Given the description of an element on the screen output the (x, y) to click on. 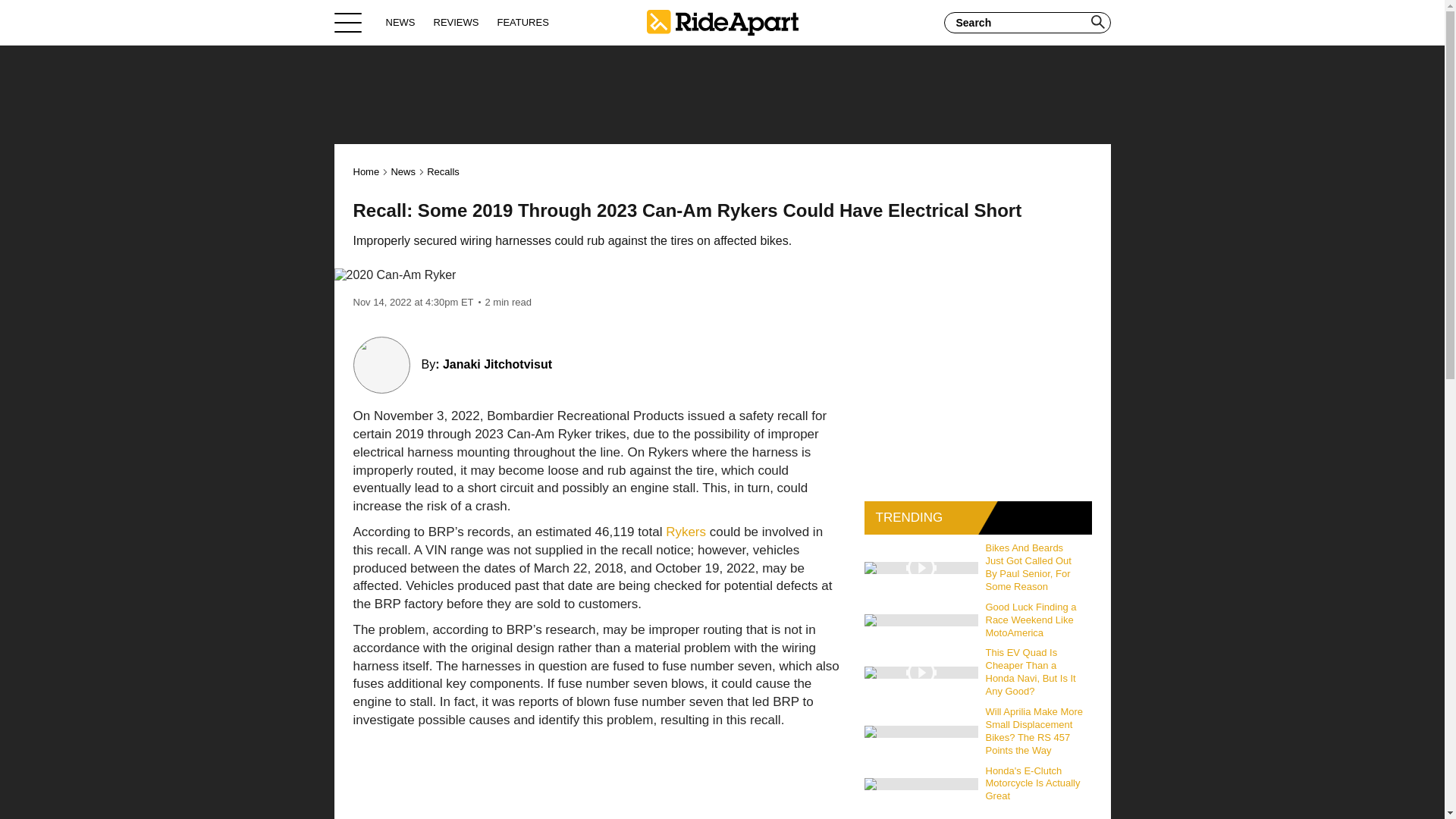
Rykers (685, 531)
FEATURES (522, 22)
Recalls (443, 171)
Home (721, 22)
REVIEWS (456, 22)
Home (366, 171)
NEWS (399, 22)
Good Luck Finding a Race Weekend Like MotoAmerica (1035, 620)
News (402, 171)
